Given the description of an element on the screen output the (x, y) to click on. 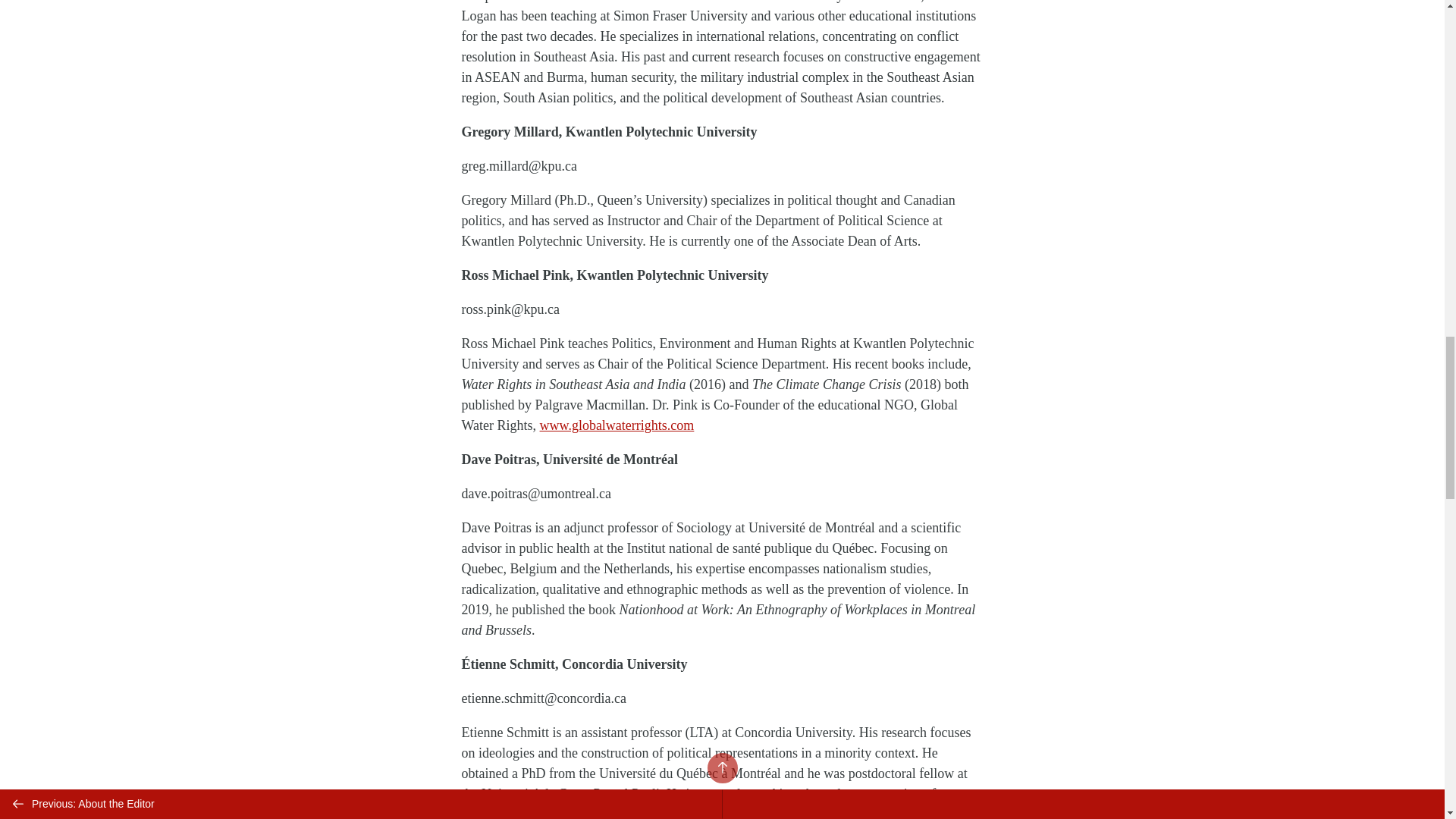
www.globalwaterrights.com (617, 425)
